Given the description of an element on the screen output the (x, y) to click on. 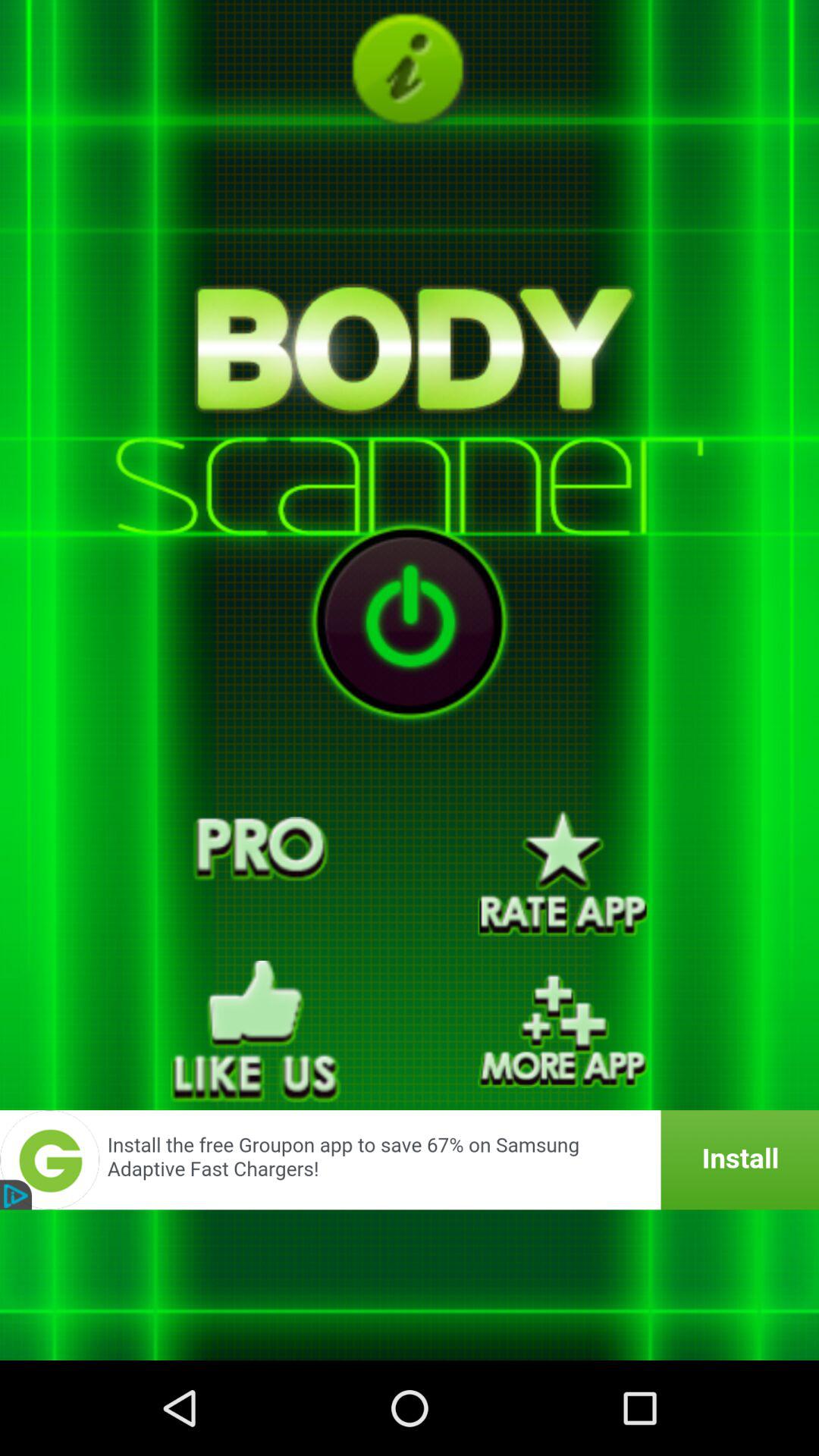
rate app (562, 873)
